Given the description of an element on the screen output the (x, y) to click on. 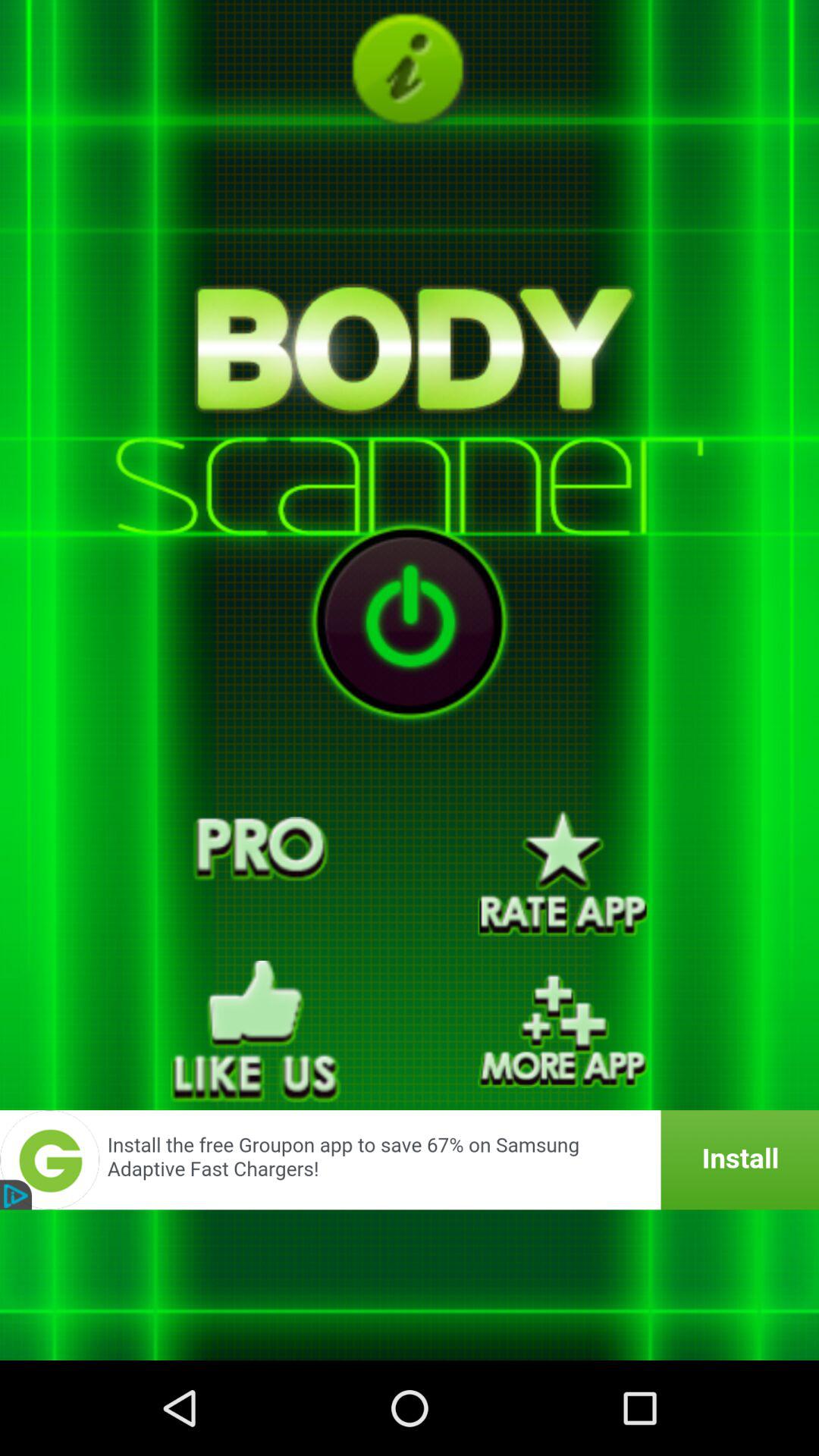
rate app (562, 873)
